Given the description of an element on the screen output the (x, y) to click on. 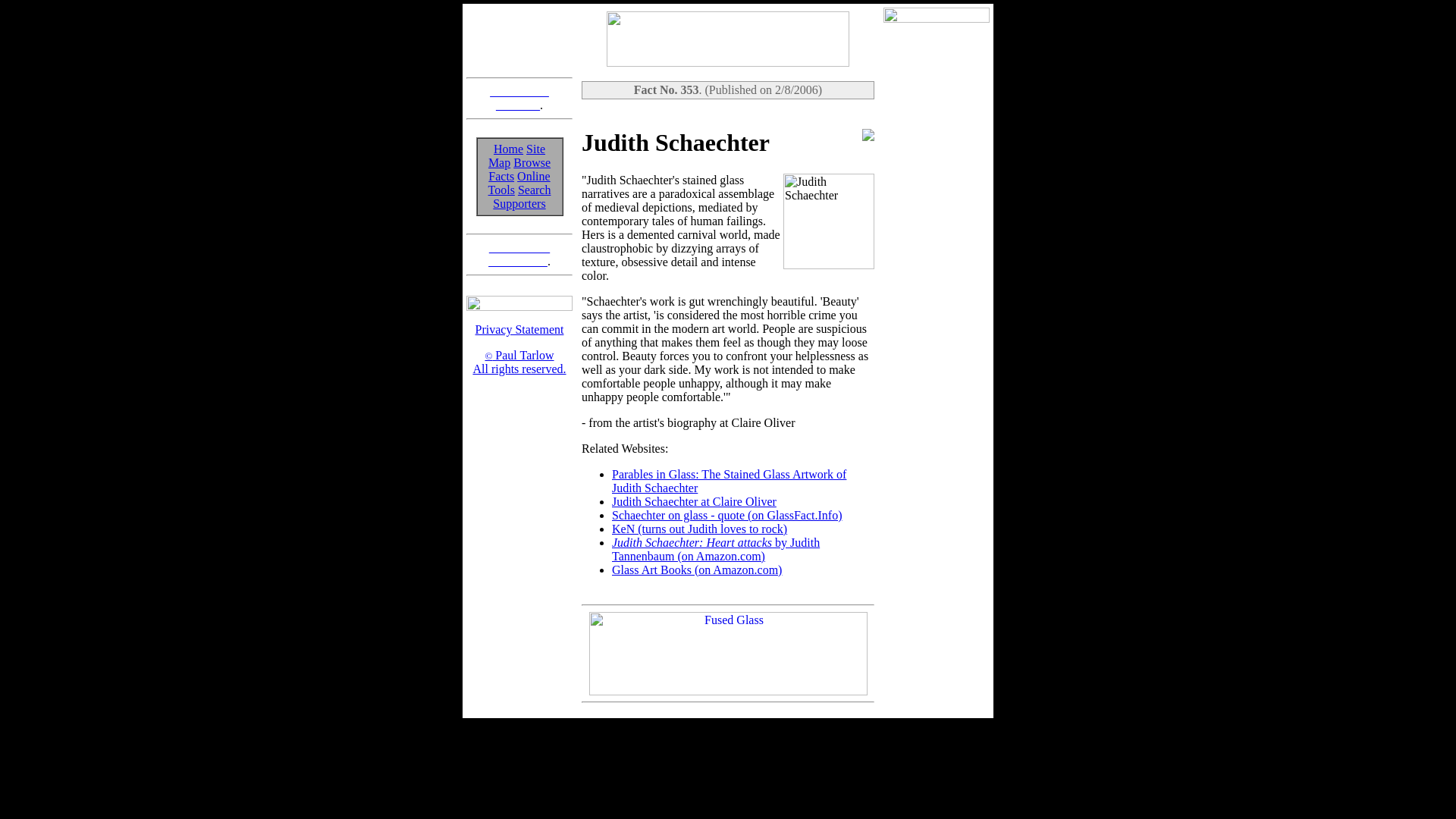
Search (518, 253)
Supporters (534, 189)
Site Map (518, 203)
Home (515, 155)
Online Tools (507, 148)
Privacy Statement (518, 98)
Judith Schaechter at Claire Oliver (518, 182)
